Given the description of an element on the screen output the (x, y) to click on. 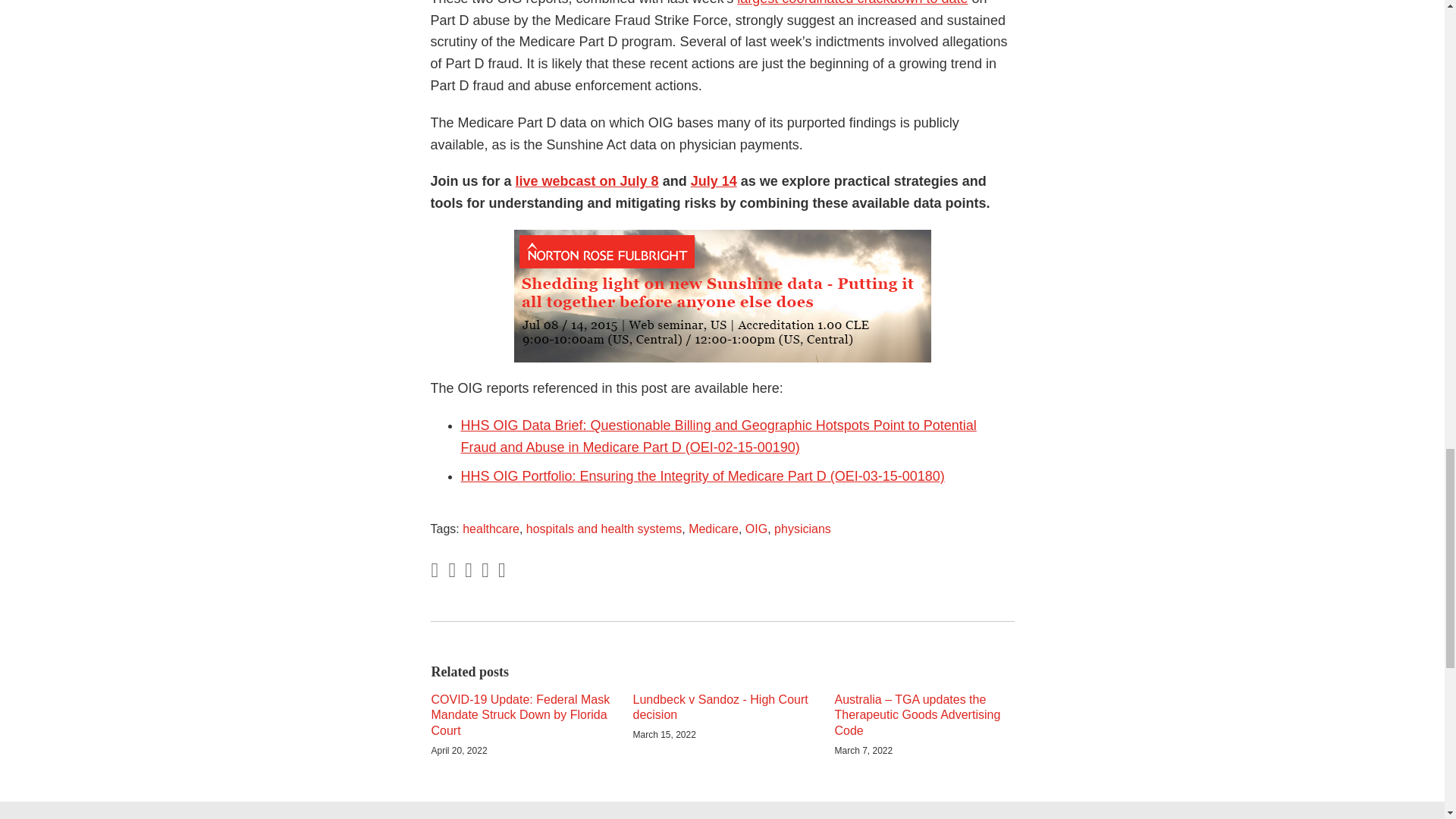
Medicare (713, 528)
OIG (756, 528)
largest coordinated crackdown to date (852, 2)
physicians (802, 528)
July 14 (713, 181)
healthcare (491, 528)
Health law pulse (852, 2)
hospitals and health systems (603, 528)
Sunshine Act Web Seminar (587, 181)
Lundbeck v Sandoz - High Court decision (720, 707)
live webcast on July 8 (587, 181)
Sunshine Act Web Seminar (713, 181)
